Given the description of an element on the screen output the (x, y) to click on. 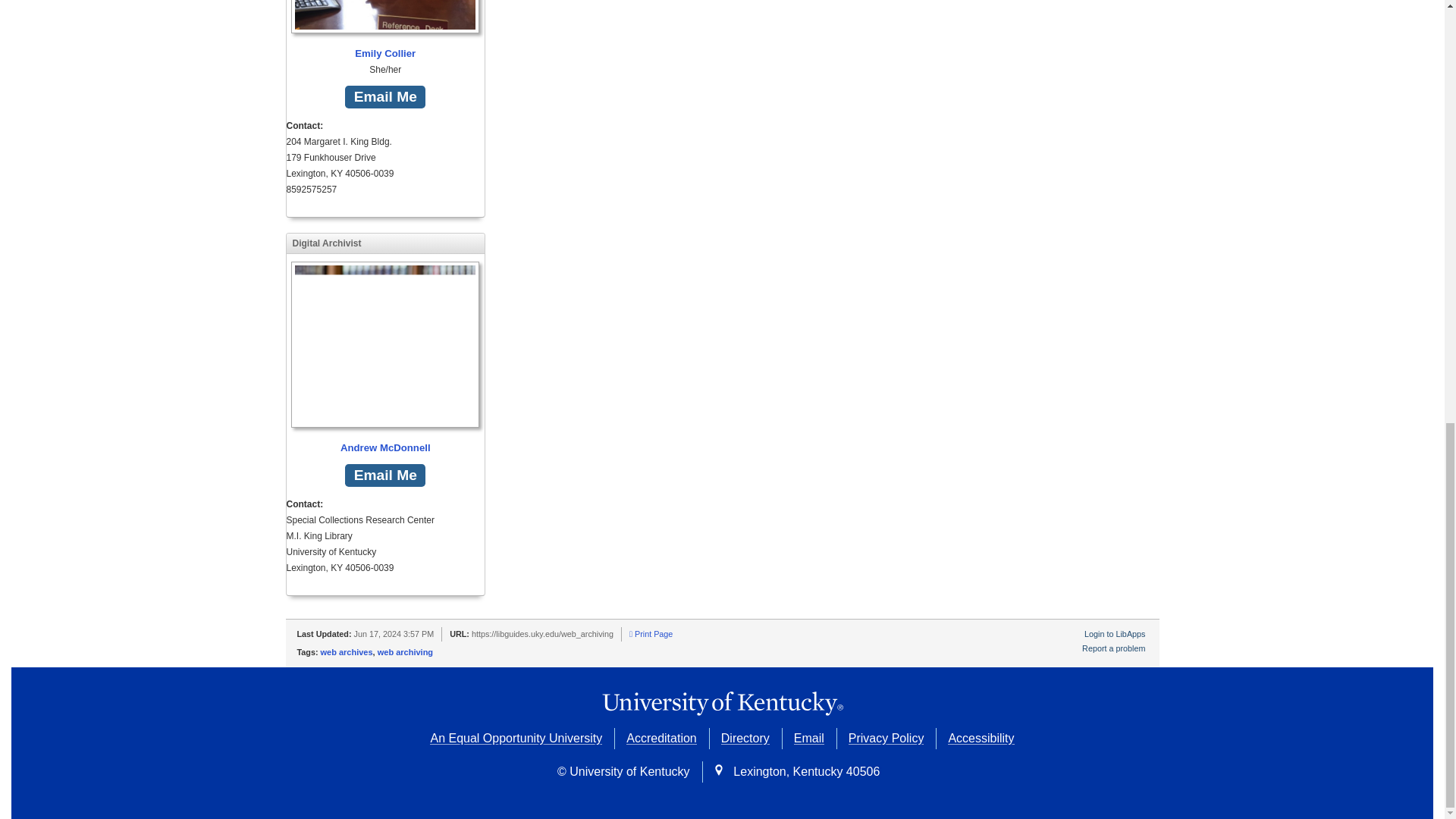
Report a problem (1112, 647)
Print Page (650, 633)
Andrew McDonnell (385, 358)
web archives (346, 651)
Login to LibApps (1114, 633)
web archiving (404, 651)
Emily Collier (385, 31)
Email Me (385, 96)
Email Me (385, 475)
